Given the description of an element on the screen output the (x, y) to click on. 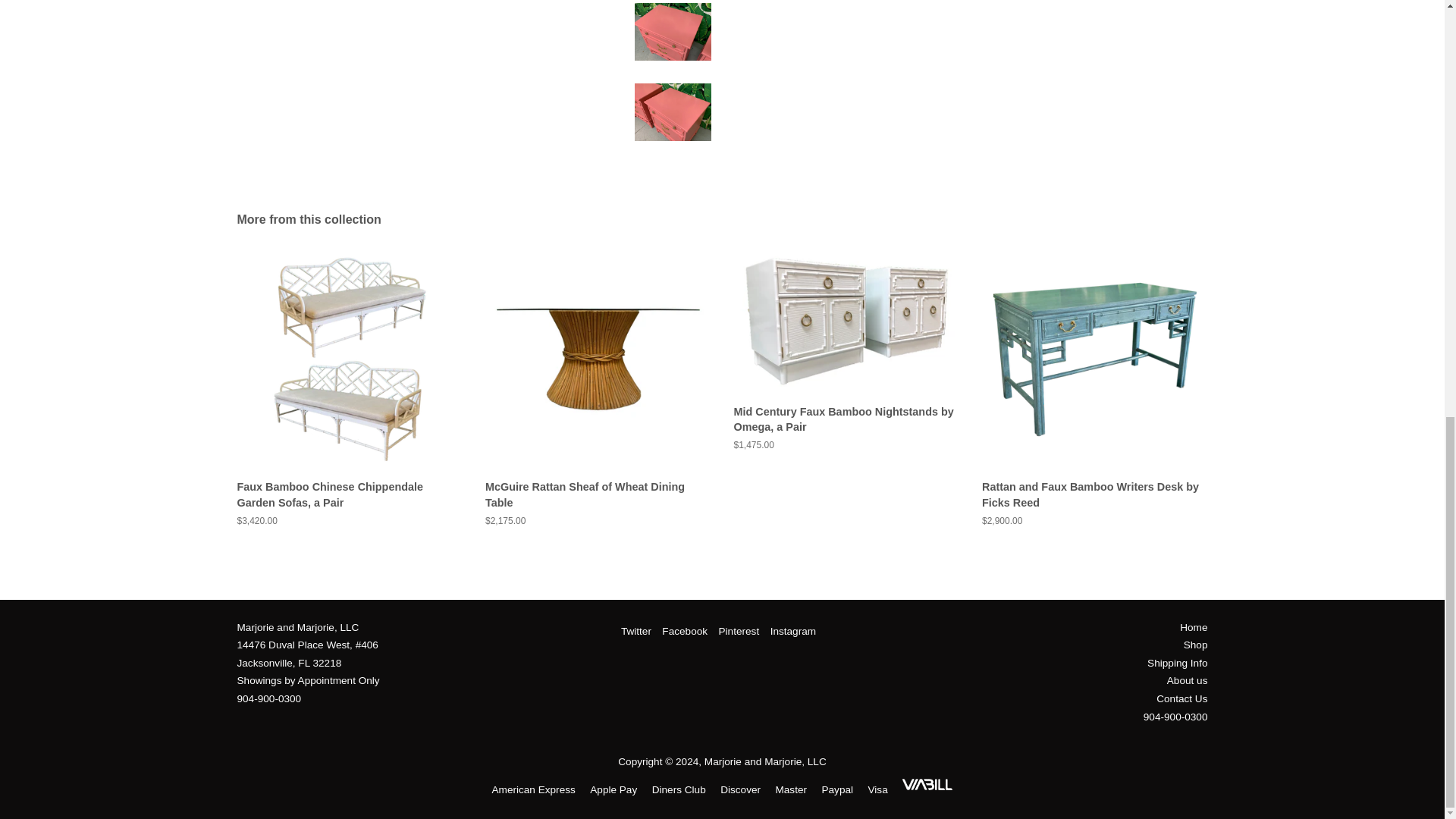
Marjorie and Marjorie on Instagram (792, 631)
Marjorie and Marjorie on Pinterest (739, 631)
Marjorie and Marjorie on Facebook (684, 631)
Marjorie and Marjorie on Twitter (635, 631)
